Given the description of an element on the screen output the (x, y) to click on. 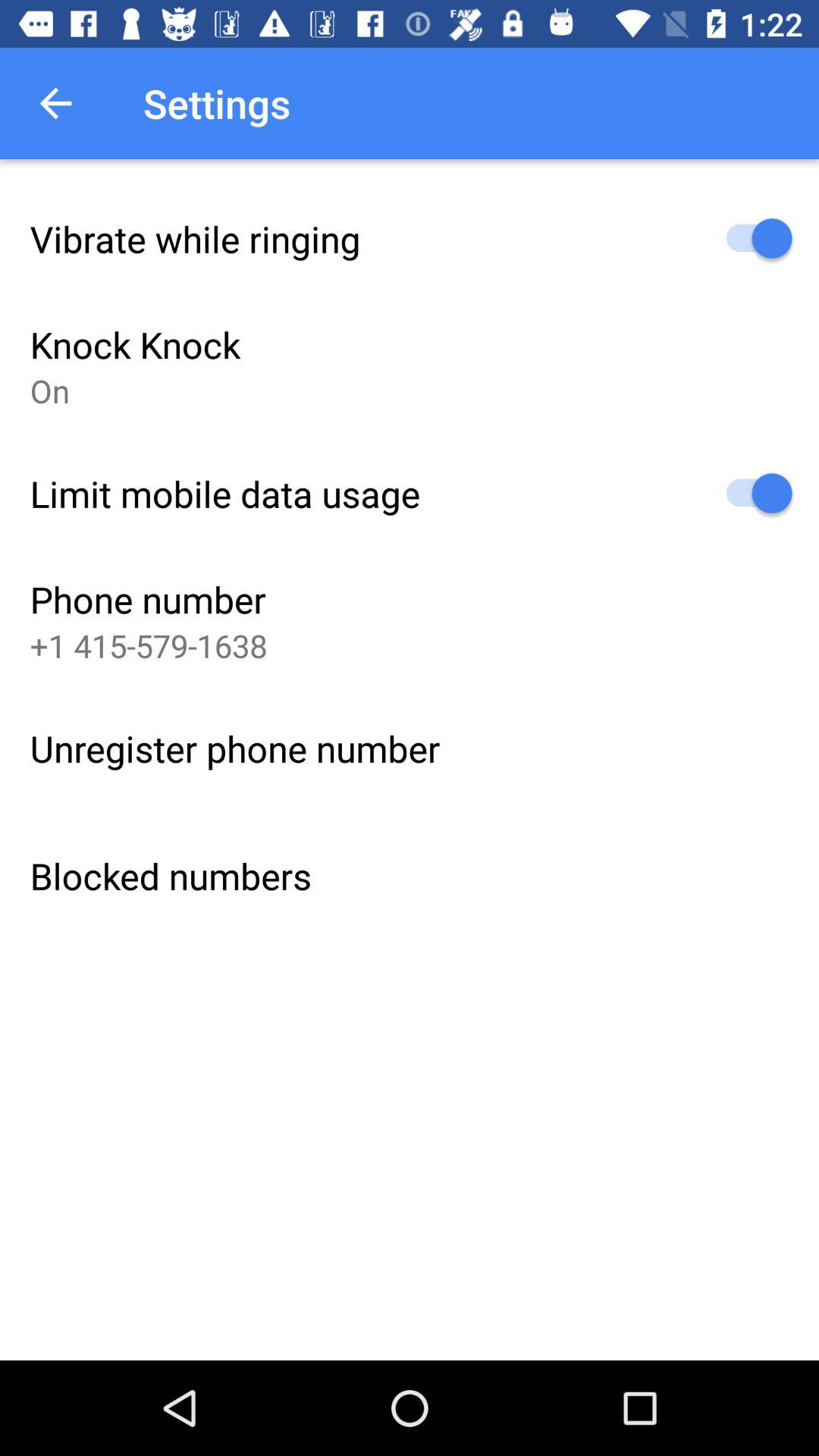
turn off item below phone number (148, 645)
